Given the description of an element on the screen output the (x, y) to click on. 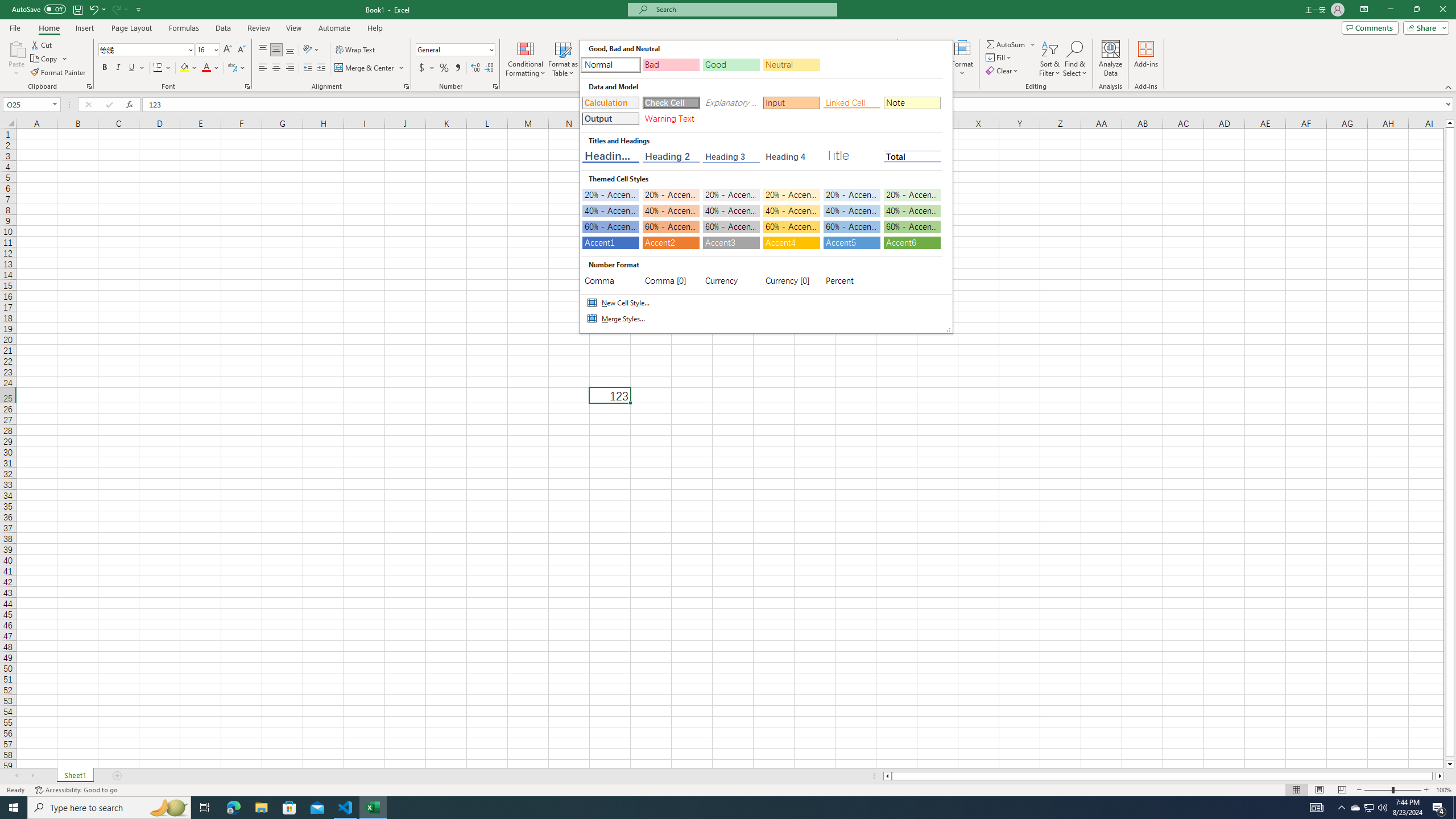
Cut (42, 44)
Underline (131, 67)
Format Cell Font (247, 85)
File Explorer (261, 807)
Format Painter (58, 72)
Font (147, 49)
Number Format (455, 49)
Paste (16, 58)
Comma Style (457, 67)
Align Right (290, 67)
